Given the description of an element on the screen output the (x, y) to click on. 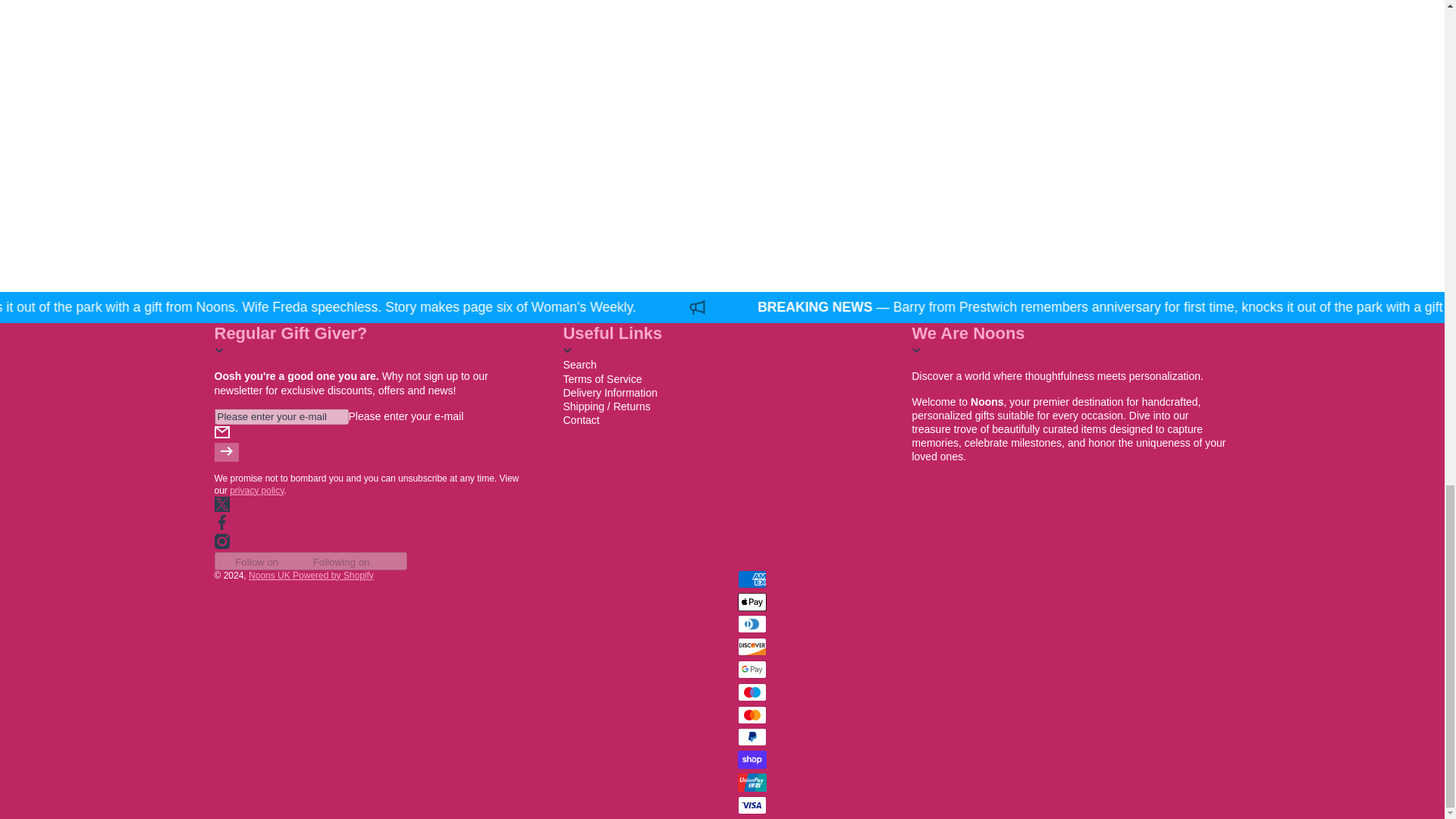
American Express (750, 579)
Diners Club (750, 624)
Mastercard (750, 714)
PayPal (750, 737)
Shop Pay (750, 760)
Union Pay (750, 782)
Google Pay (750, 669)
Discover (750, 647)
Visa (750, 805)
Apple Pay (750, 601)
